Given the description of an element on the screen output the (x, y) to click on. 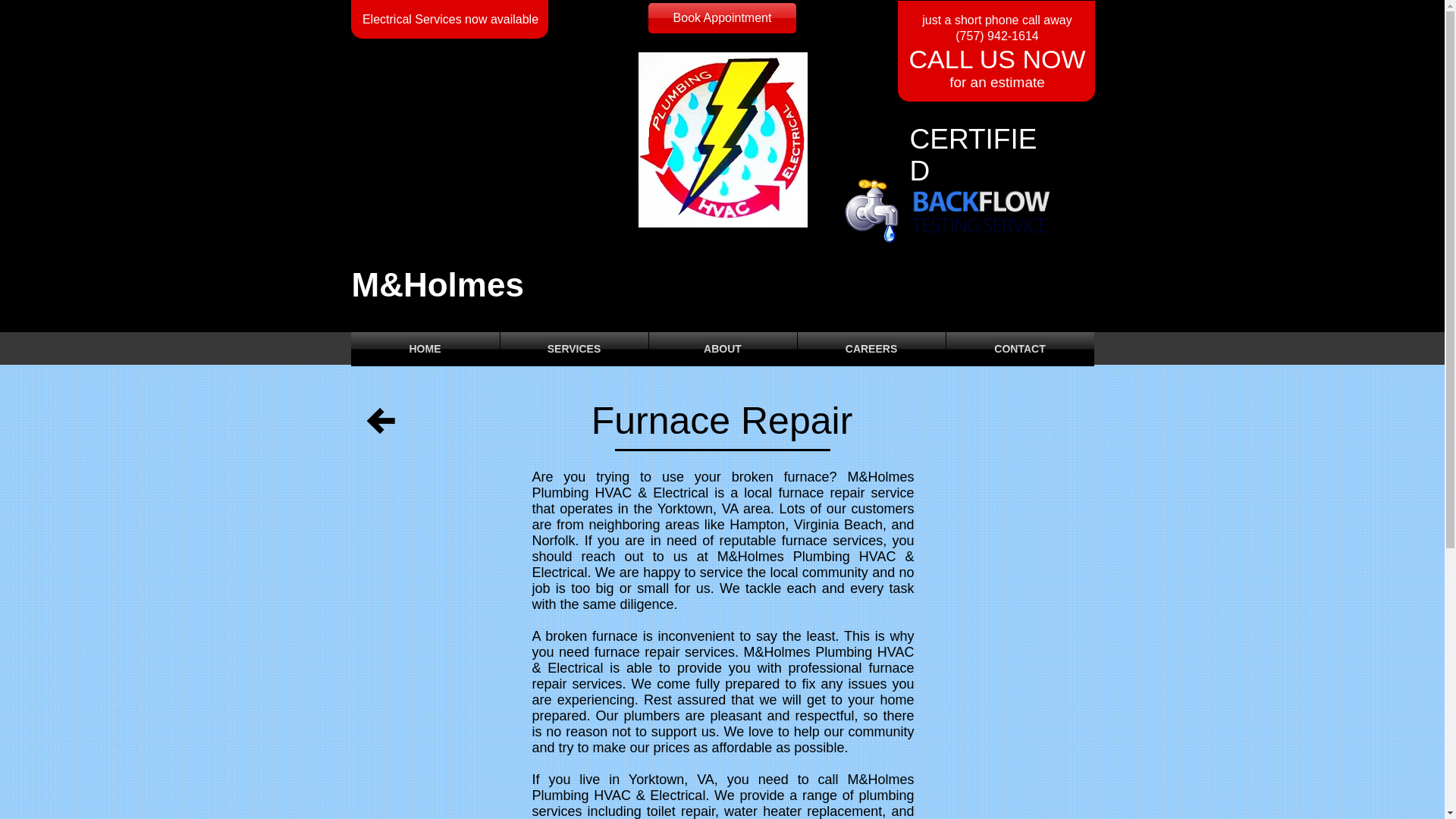
CAREERS (870, 349)
Book Appointment (721, 18)
HOME (424, 349)
SERVICES (573, 349)
ABOUT (722, 349)
CONTACT (1020, 349)
